Given the description of an element on the screen output the (x, y) to click on. 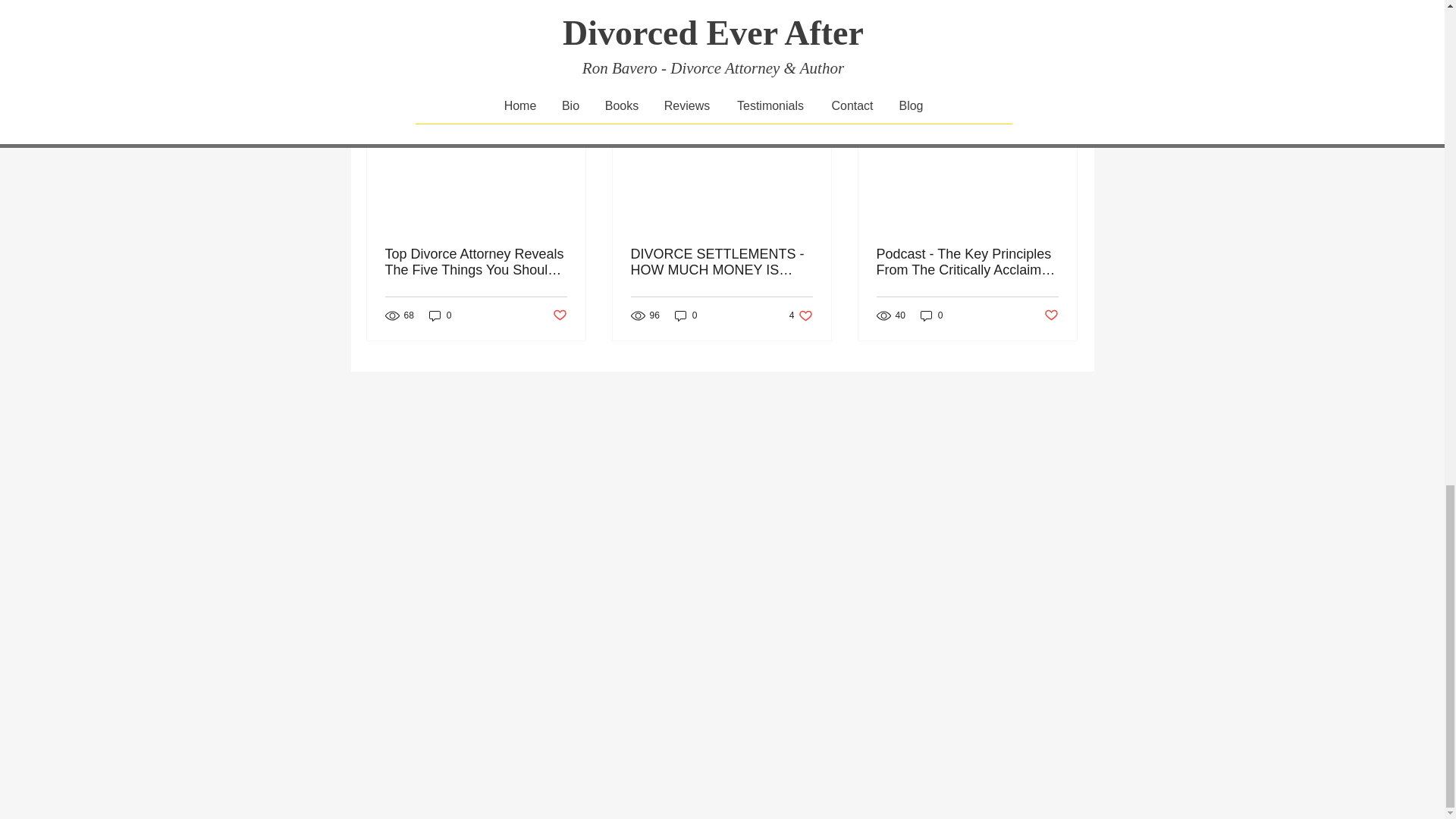
Post not marked as liked (558, 315)
0 (440, 315)
See All (1061, 78)
Post not marked as liked (995, 2)
